Given the description of an element on the screen output the (x, y) to click on. 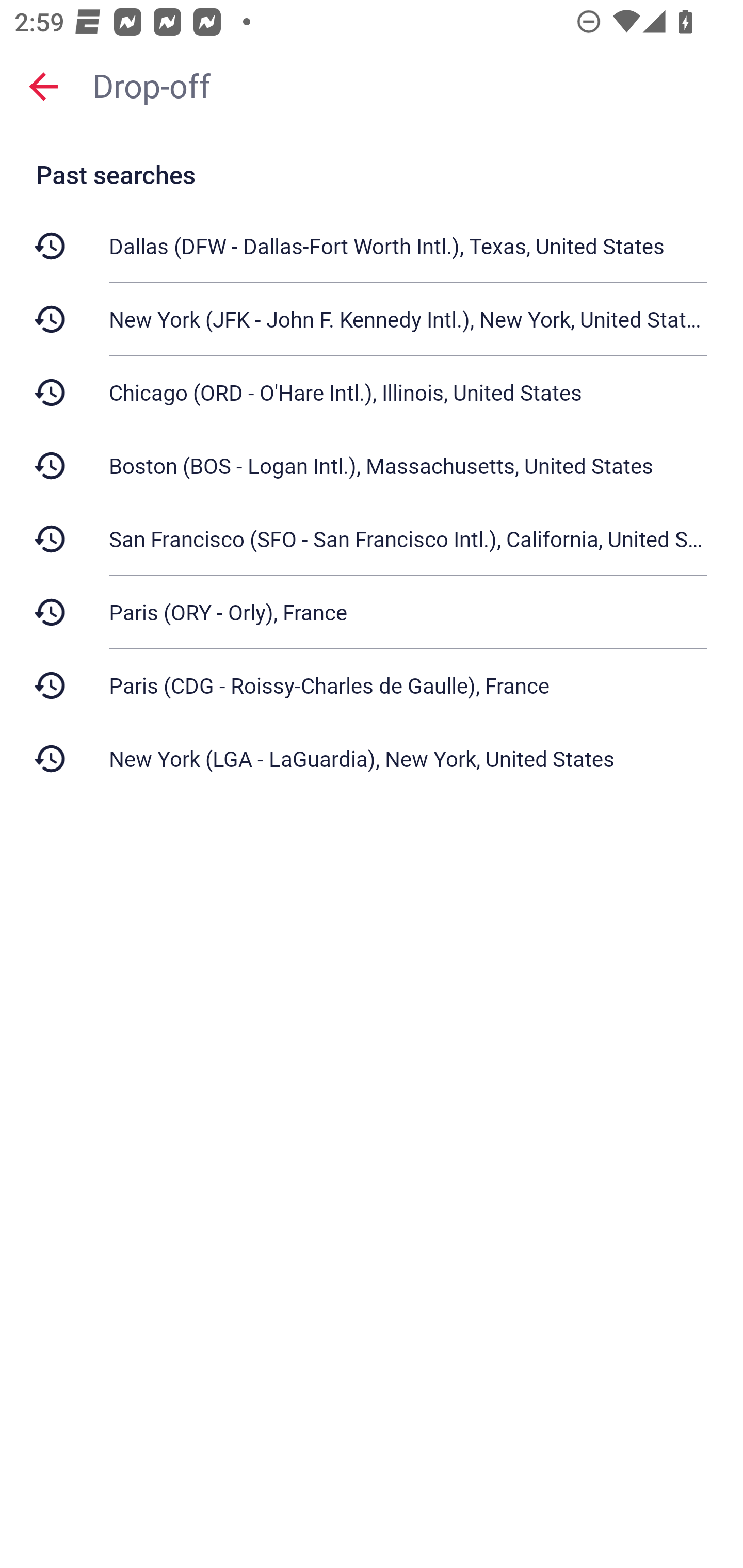
Drop-off,  (407, 85)
Close search screen (43, 86)
